Given the description of an element on the screen output the (x, y) to click on. 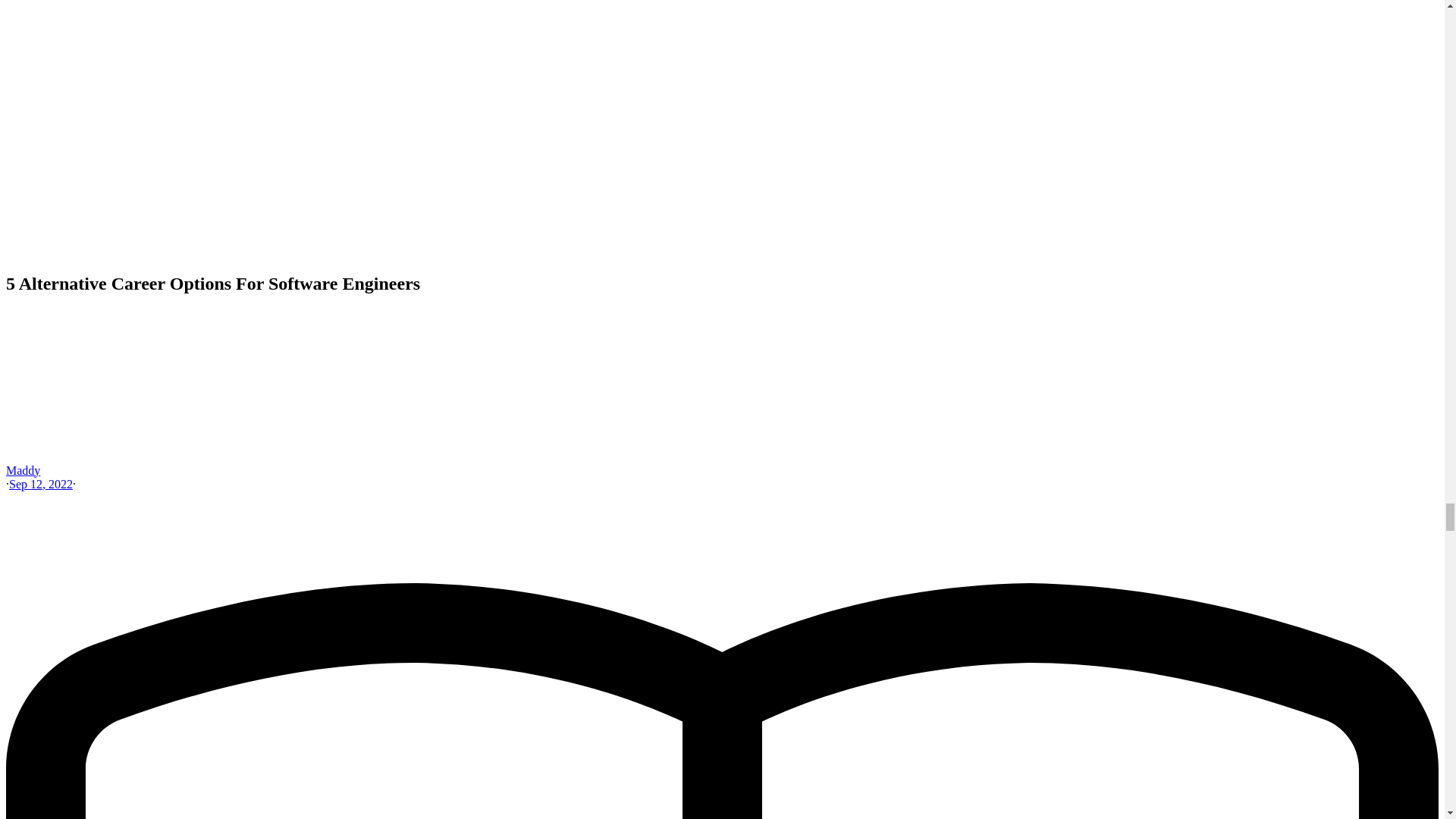
Maddy (22, 470)
Sep 12, 2022 (40, 483)
